Given the description of an element on the screen output the (x, y) to click on. 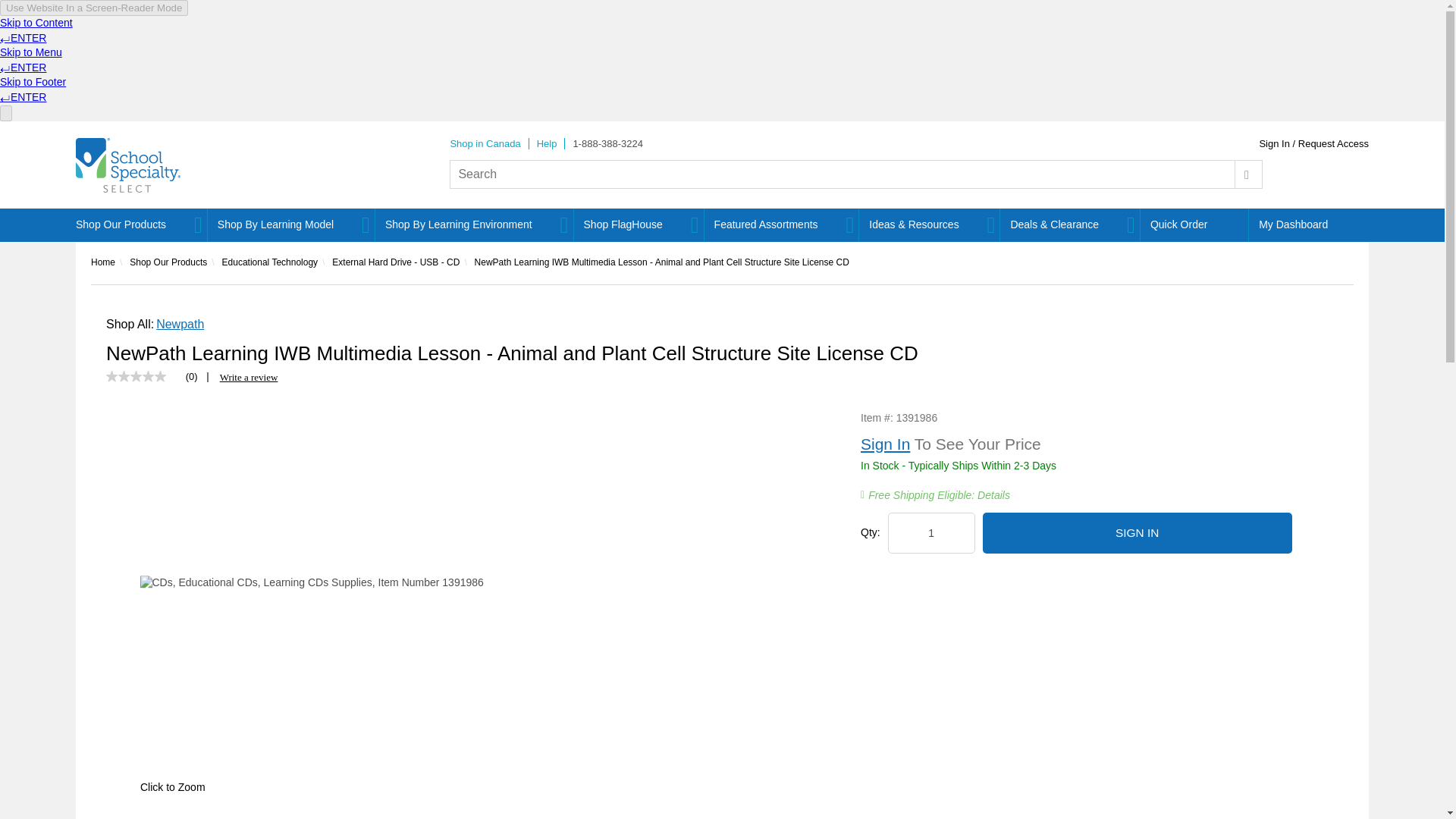
Help (547, 143)
Search (1248, 174)
Shop Our Products (135, 224)
1 (931, 532)
Shop in Canada (485, 143)
1-888-388-3224 (607, 143)
Sign In (1137, 532)
Search (1248, 174)
